Given the description of an element on the screen output the (x, y) to click on. 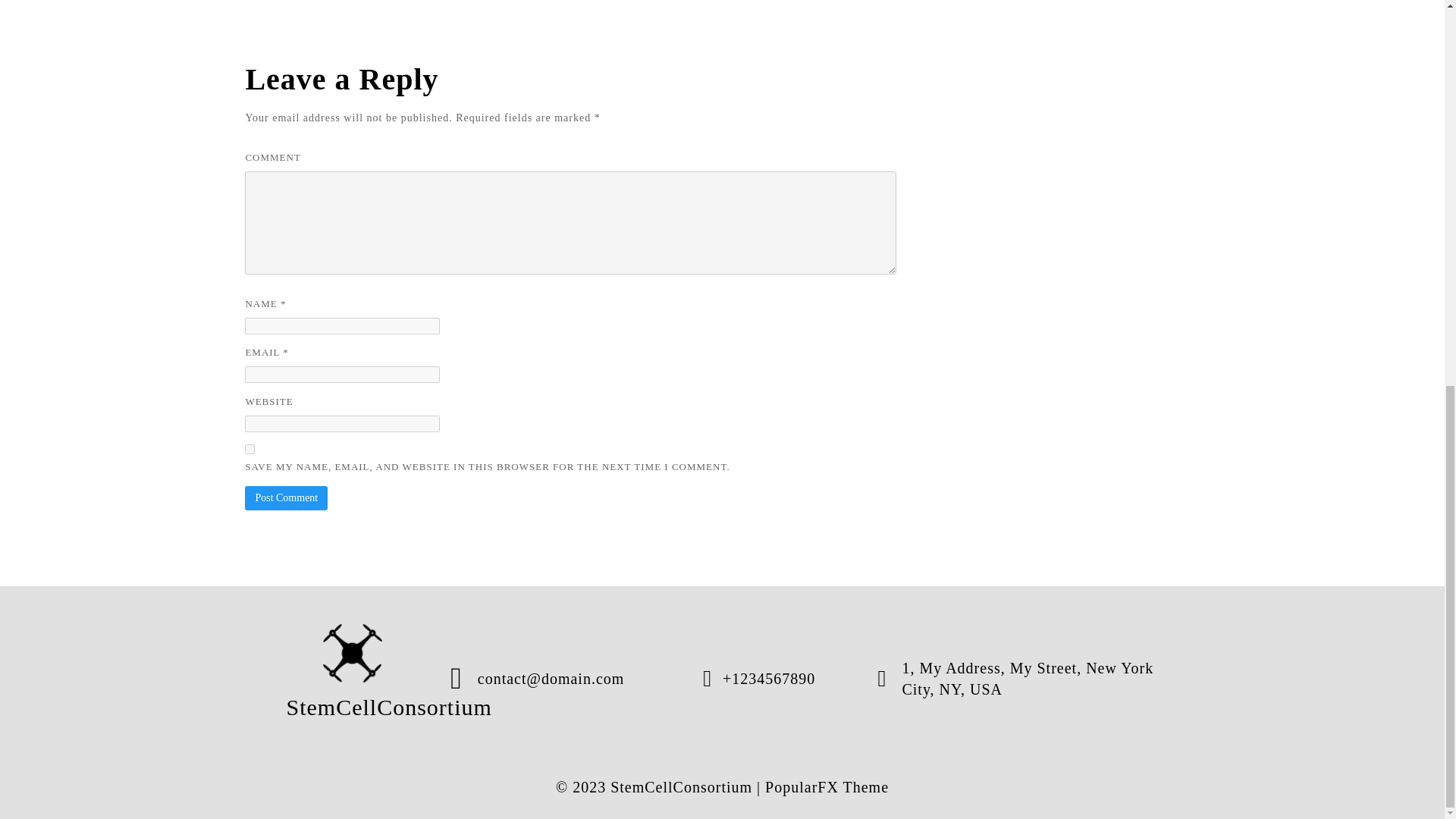
logo (352, 652)
Post Comment (285, 498)
yes (249, 449)
PopularFX Theme (826, 786)
StemCellConsortium (352, 678)
Post Comment (285, 498)
